Given the description of an element on the screen output the (x, y) to click on. 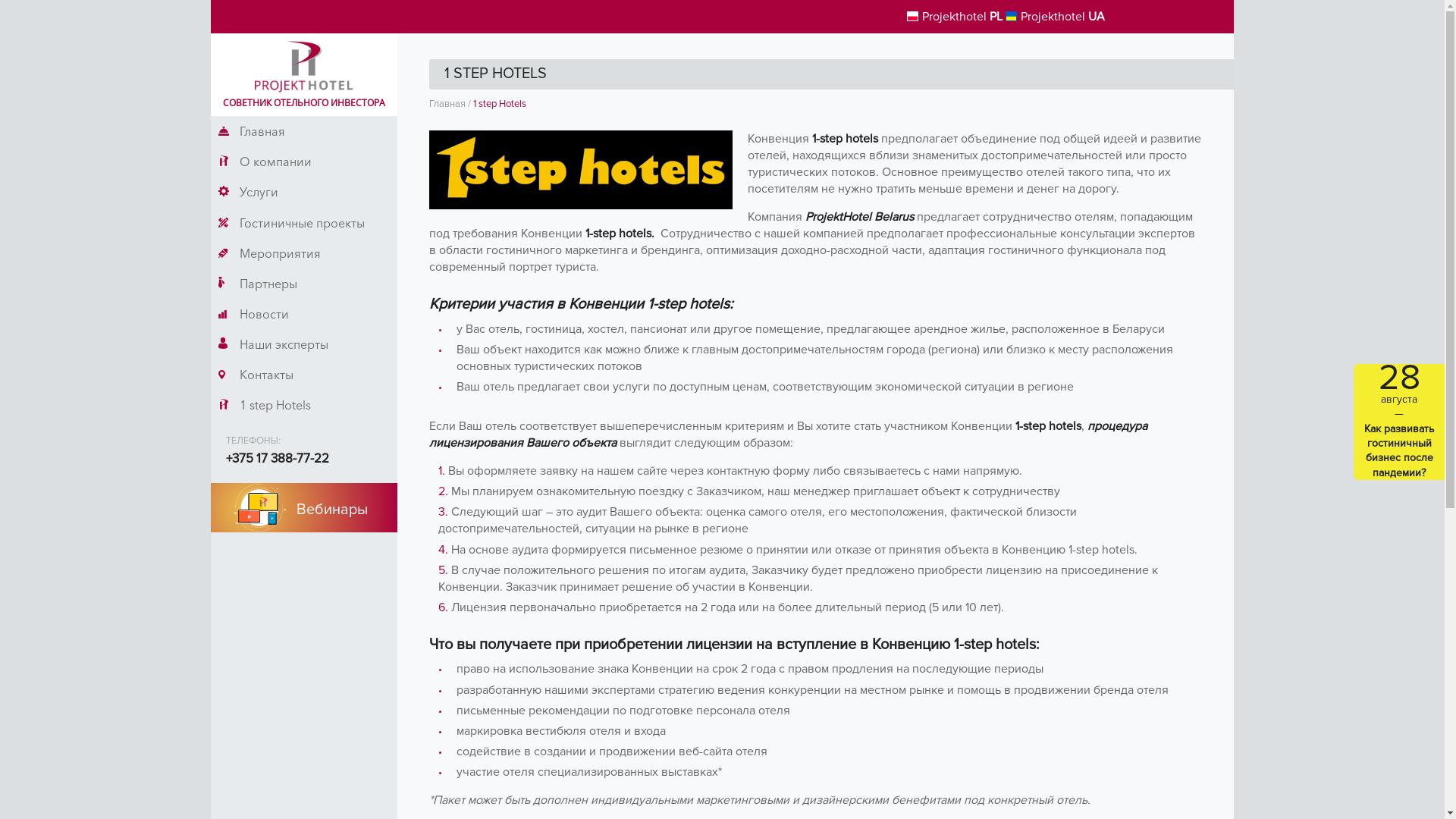
+375 17 388-77-22 Element type: text (277, 458)
Projekthotel UA Element type: text (1054, 16)
1 step Hotels Element type: text (303, 404)
Projekthotel PL Element type: text (954, 16)
